Given the description of an element on the screen output the (x, y) to click on. 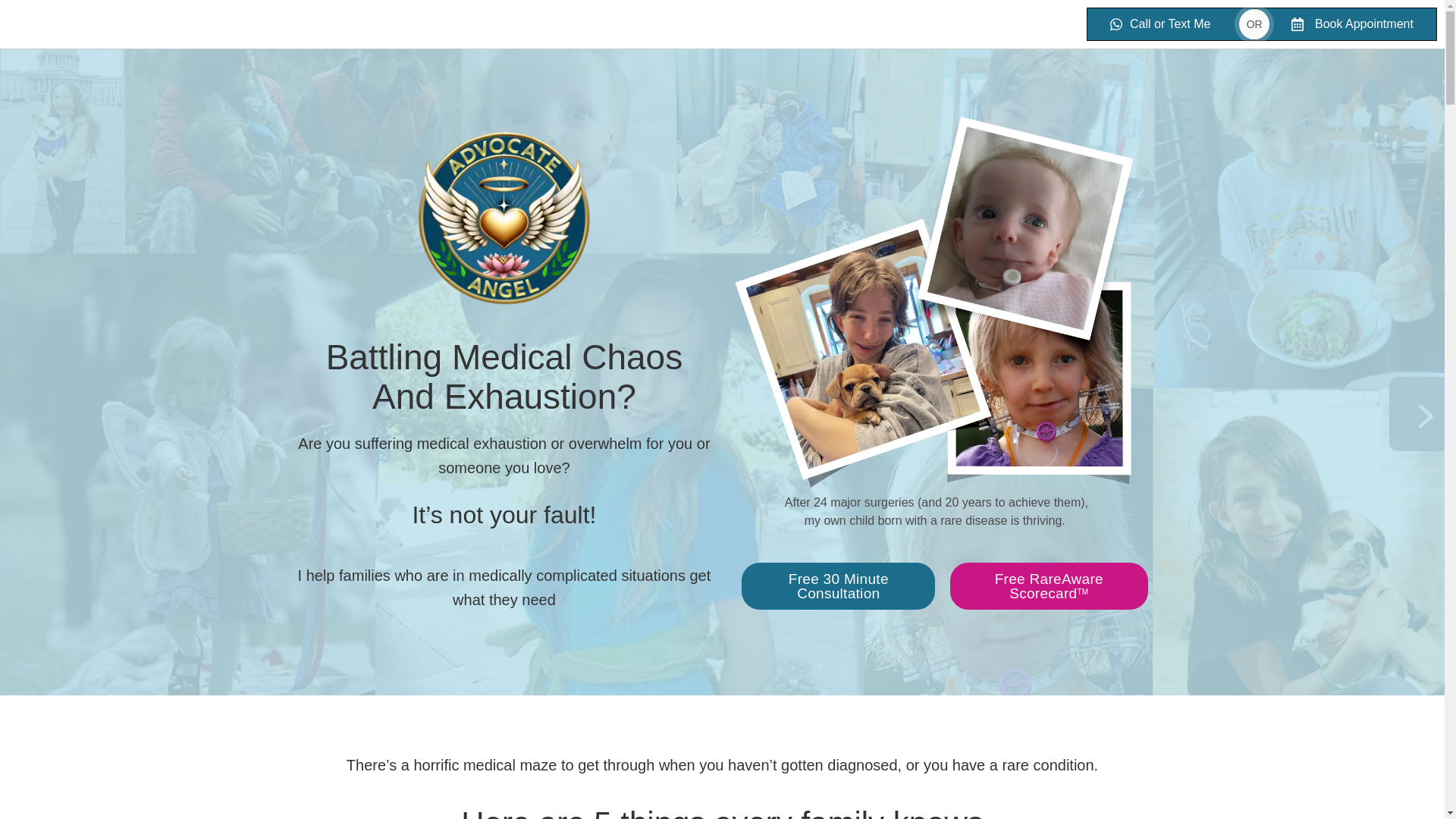
Book Appointment (1345, 23)
Free 30 Minute Consultation (837, 585)
Call or Text Me       (1169, 23)
Free RareAware ScorecardTM (1048, 585)
